Given the description of an element on the screen output the (x, y) to click on. 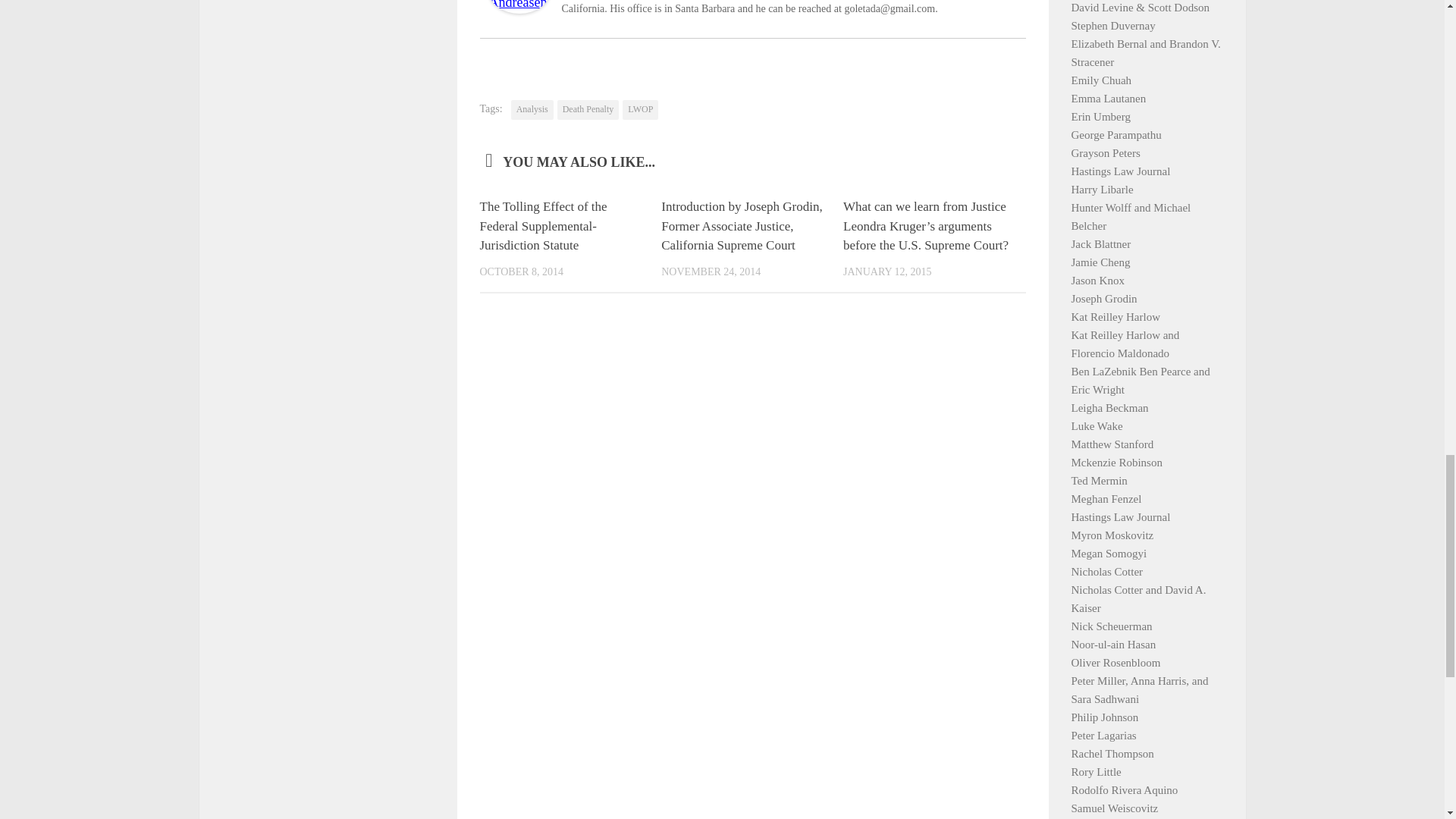
Analysis (532, 109)
LWOP (640, 109)
Death Penalty (588, 109)
David Andreasen (517, 8)
